Given the description of an element on the screen output the (x, y) to click on. 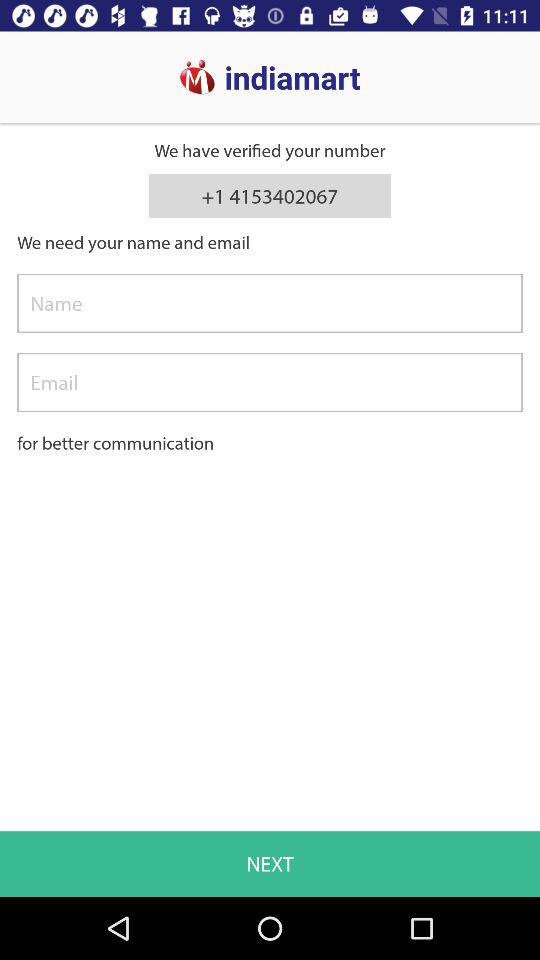
enter your email (269, 382)
